Given the description of an element on the screen output the (x, y) to click on. 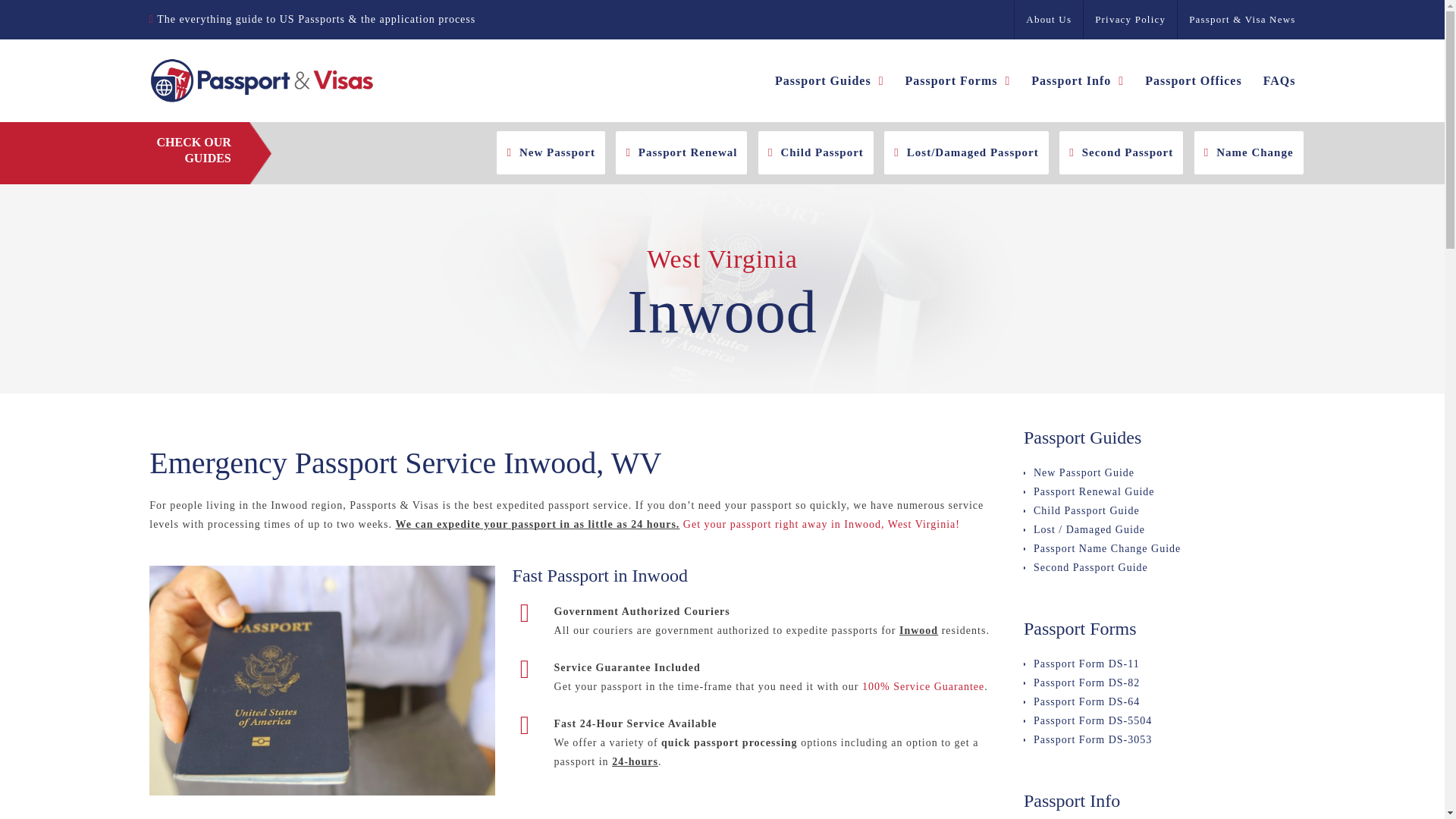
Passport Forms (957, 79)
Passport Info (1077, 79)
Get your passport right away in Inwood, West Virginia! (820, 523)
New Passport (550, 152)
Second Passport (1120, 152)
Child Passport (815, 152)
FAQs (1279, 79)
Passport Guides (828, 79)
Passport Offices (1192, 79)
Name Change (1249, 152)
Passport Renewal (681, 152)
Privacy Policy (1129, 19)
About Us (1048, 19)
